Given the description of an element on the screen output the (x, y) to click on. 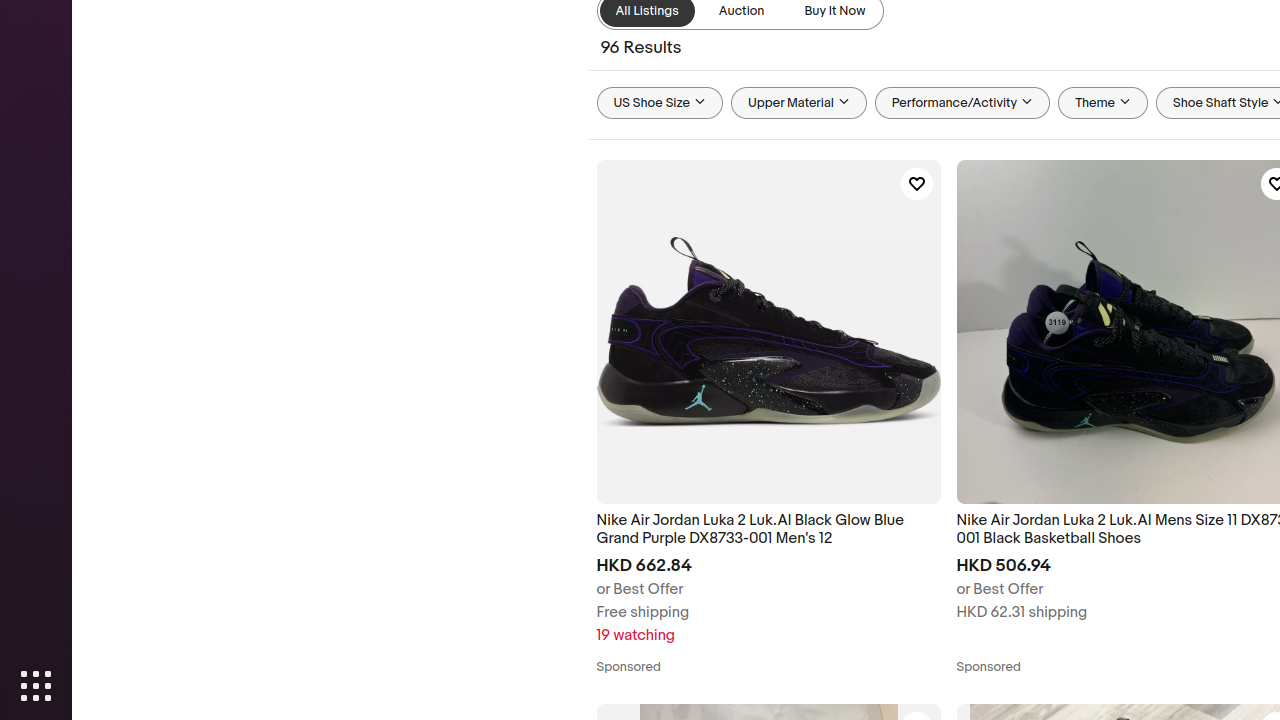
Show Applications Element type: toggle-button (36, 686)
Click to watch item - Nike Air Jordan Luka 2 Luk.Al Black Glow Blue Grand Purple DX8733-001 Men's 12 Element type: push-button (916, 184)
Performance/Activity Element type: push-button (962, 103)
Theme Element type: push-button (1103, 103)
US Shoe Size Element type: push-button (660, 103)
